Given the description of an element on the screen output the (x, y) to click on. 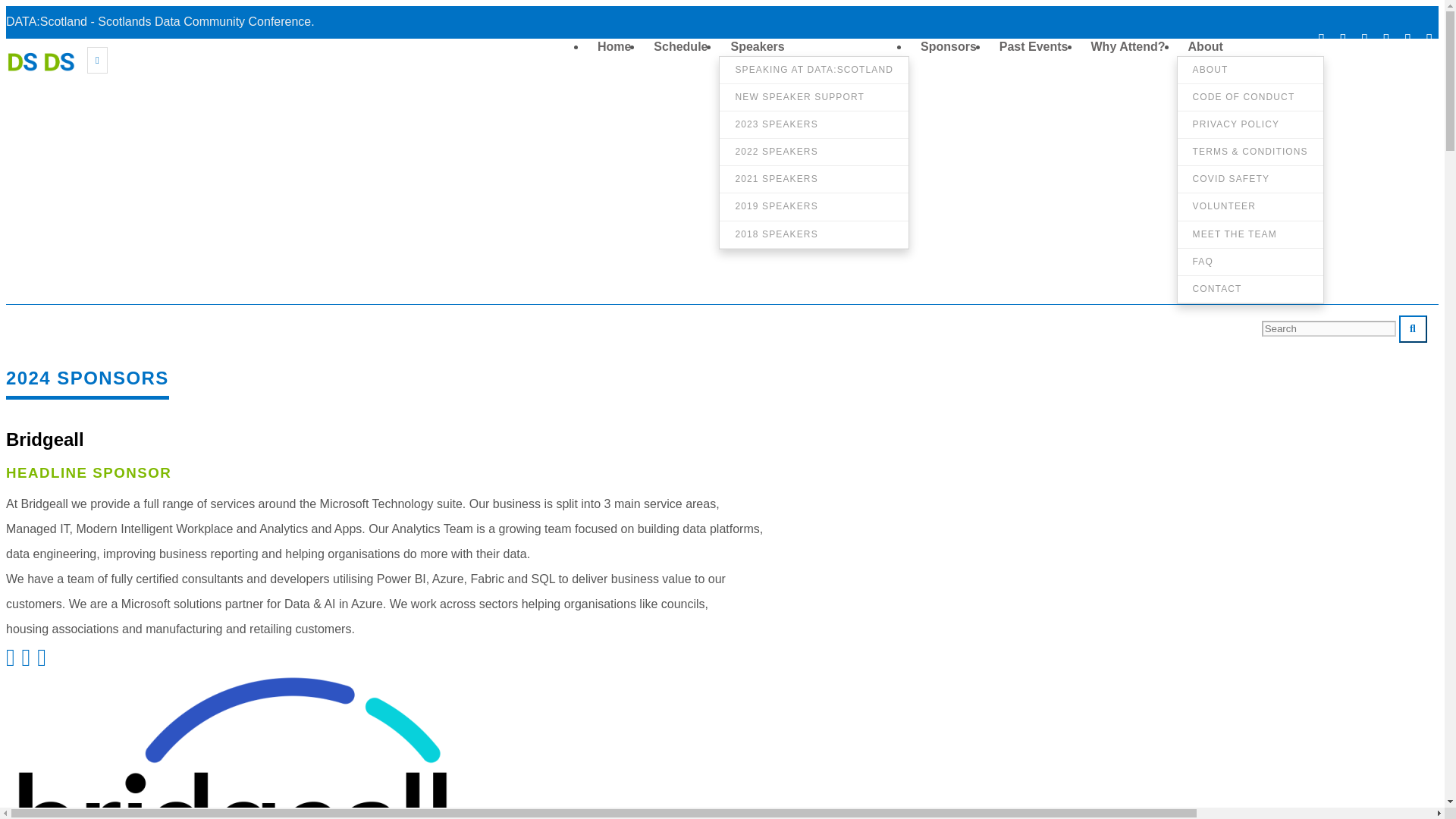
Sponsor - go to homepage (43, 69)
Why Attend? (1128, 44)
Schedule (680, 44)
SPEAKING AT DATA:SCOTLAND (813, 69)
2019 SPEAKERS (813, 206)
About (1205, 44)
CODE OF CONDUCT (1250, 96)
NEW SPEAKER SUPPORT (813, 96)
COVID SAFETY (1250, 178)
Toggle Navigation (97, 59)
2021 SPEAKERS (813, 178)
VOLUNTEER (1250, 206)
CONTACT (1250, 289)
2022 SPEAKERS (813, 151)
2018 SPEAKERS (813, 234)
